Given the description of an element on the screen output the (x, y) to click on. 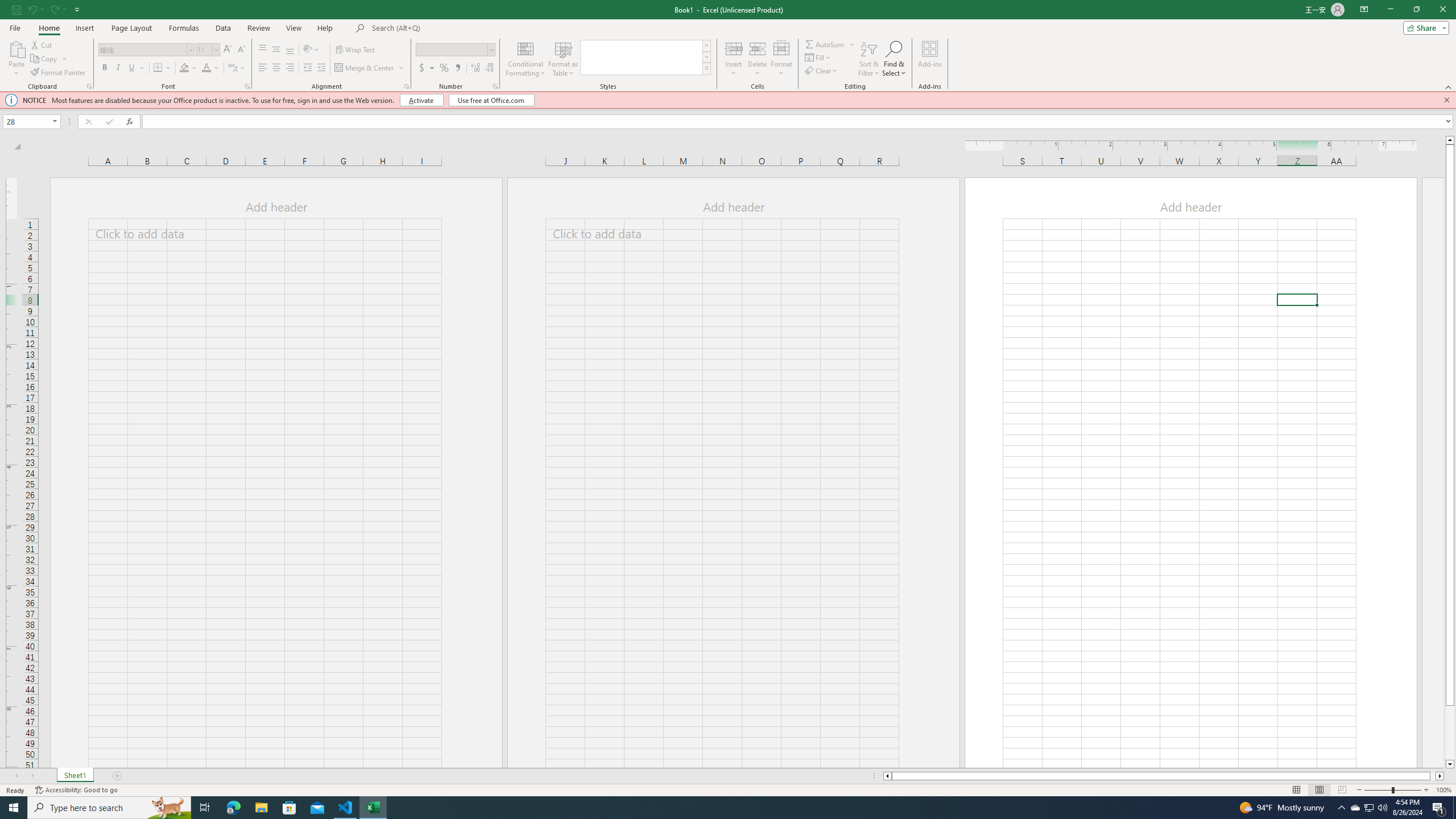
Paste (16, 48)
Italic (118, 67)
Find & Select (893, 58)
Delete Cells... (757, 48)
Decrease Indent (307, 67)
Middle Align (276, 49)
